Given the description of an element on the screen output the (x, y) to click on. 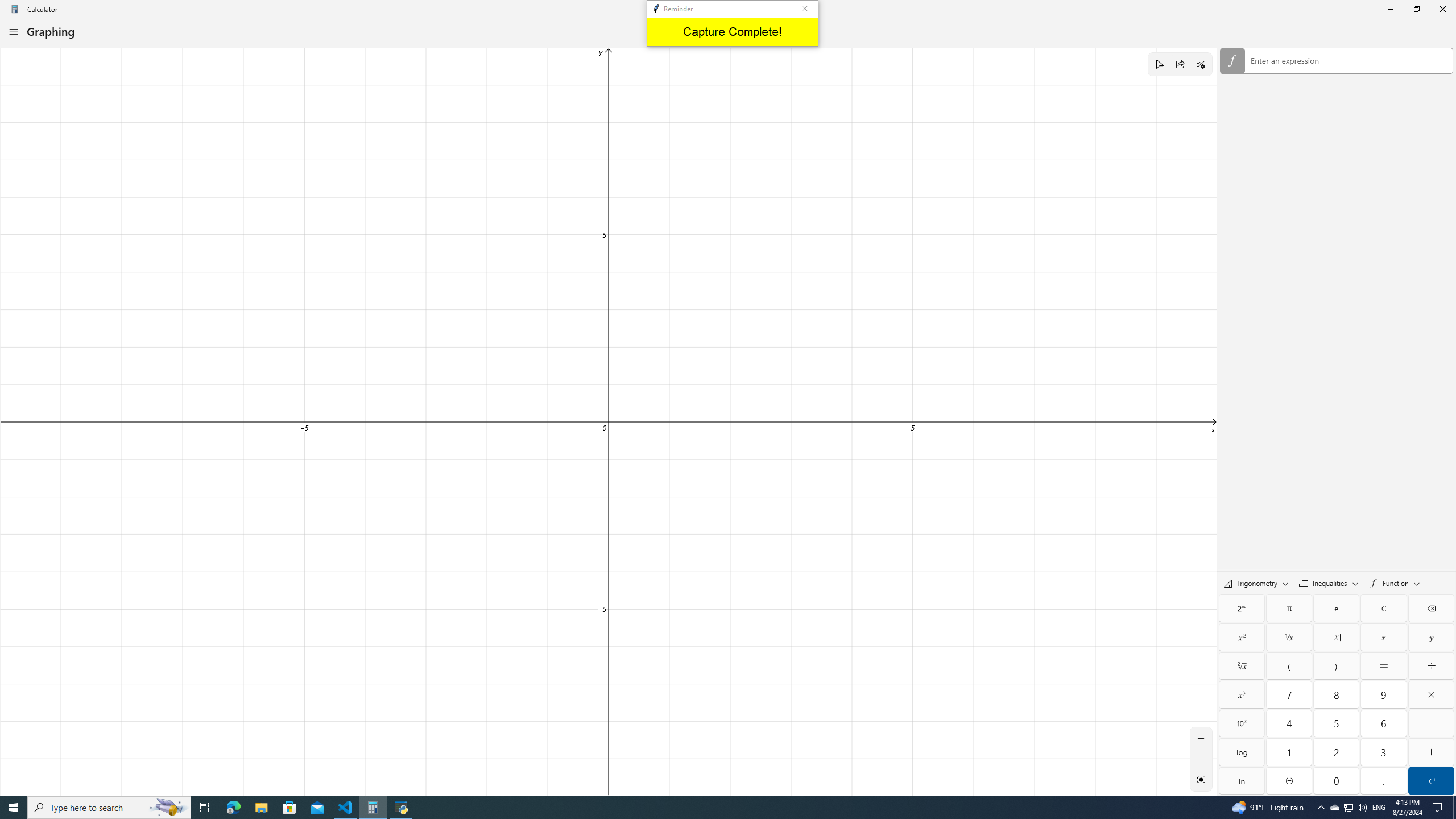
Minus (1430, 723)
Absolute value (1336, 637)
Tray Input Indicator - English (United States) (1378, 807)
Seven (1288, 694)
Multiply by (1430, 694)
Zoom out (1200, 759)
Open the context menu for available actions (1348, 60)
Start tracing (1159, 63)
Right parenthesis (1336, 665)
Positive negative (1288, 780)
Zoom in (1200, 738)
Restore Calculator (1416, 9)
Divide by (1430, 665)
Minimize Calculator (1390, 9)
